Given the description of an element on the screen output the (x, y) to click on. 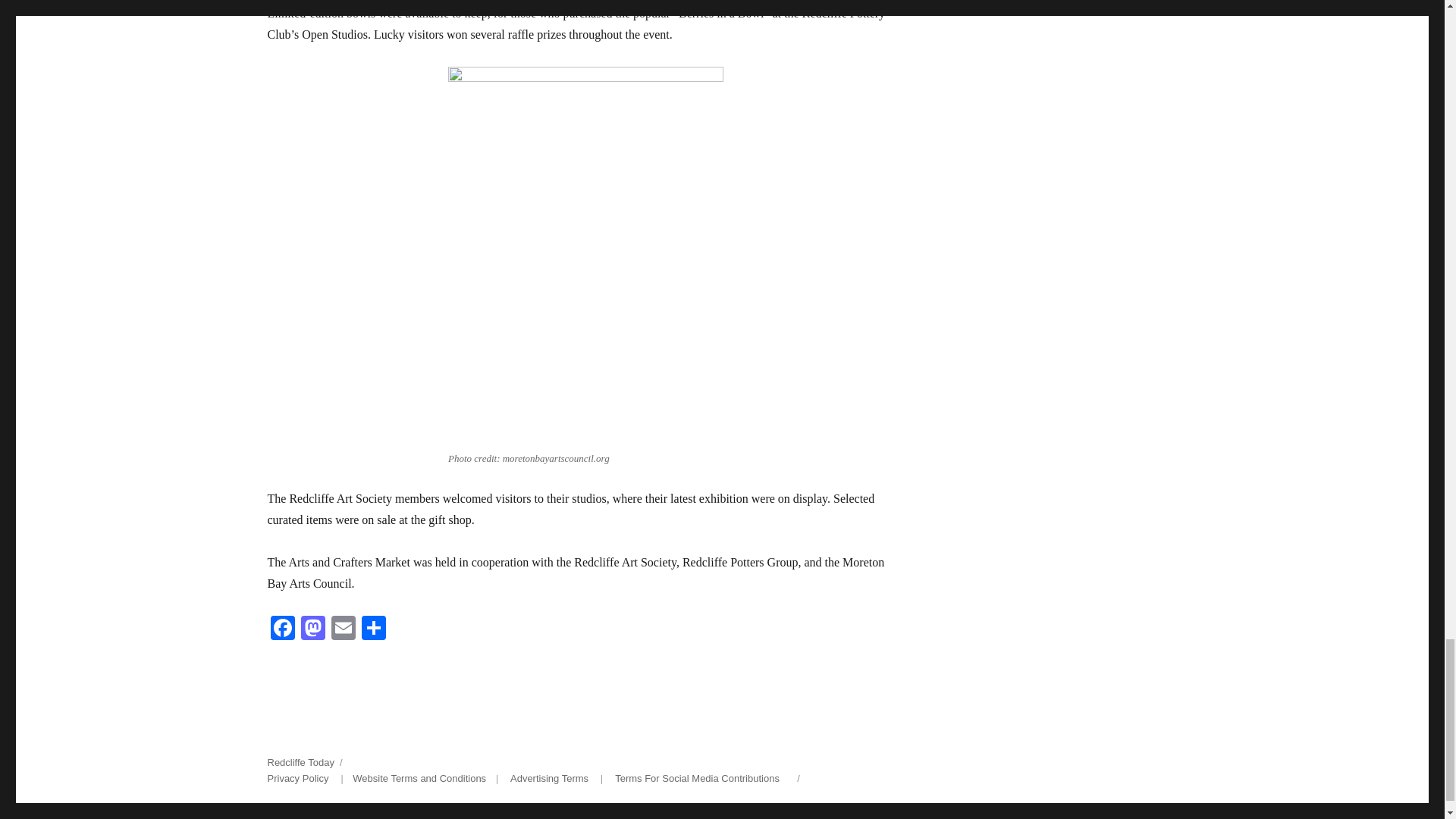
Terms For Social Media Contributions (696, 778)
Mastodon (312, 629)
Facebook (281, 629)
Privacy Policy (297, 778)
Advertising Terms (549, 778)
Website Terms and Conditions (419, 778)
Facebook (281, 629)
Mastodon (312, 629)
Email (342, 629)
Email (342, 629)
Redcliffe Today (299, 762)
